Given the description of an element on the screen output the (x, y) to click on. 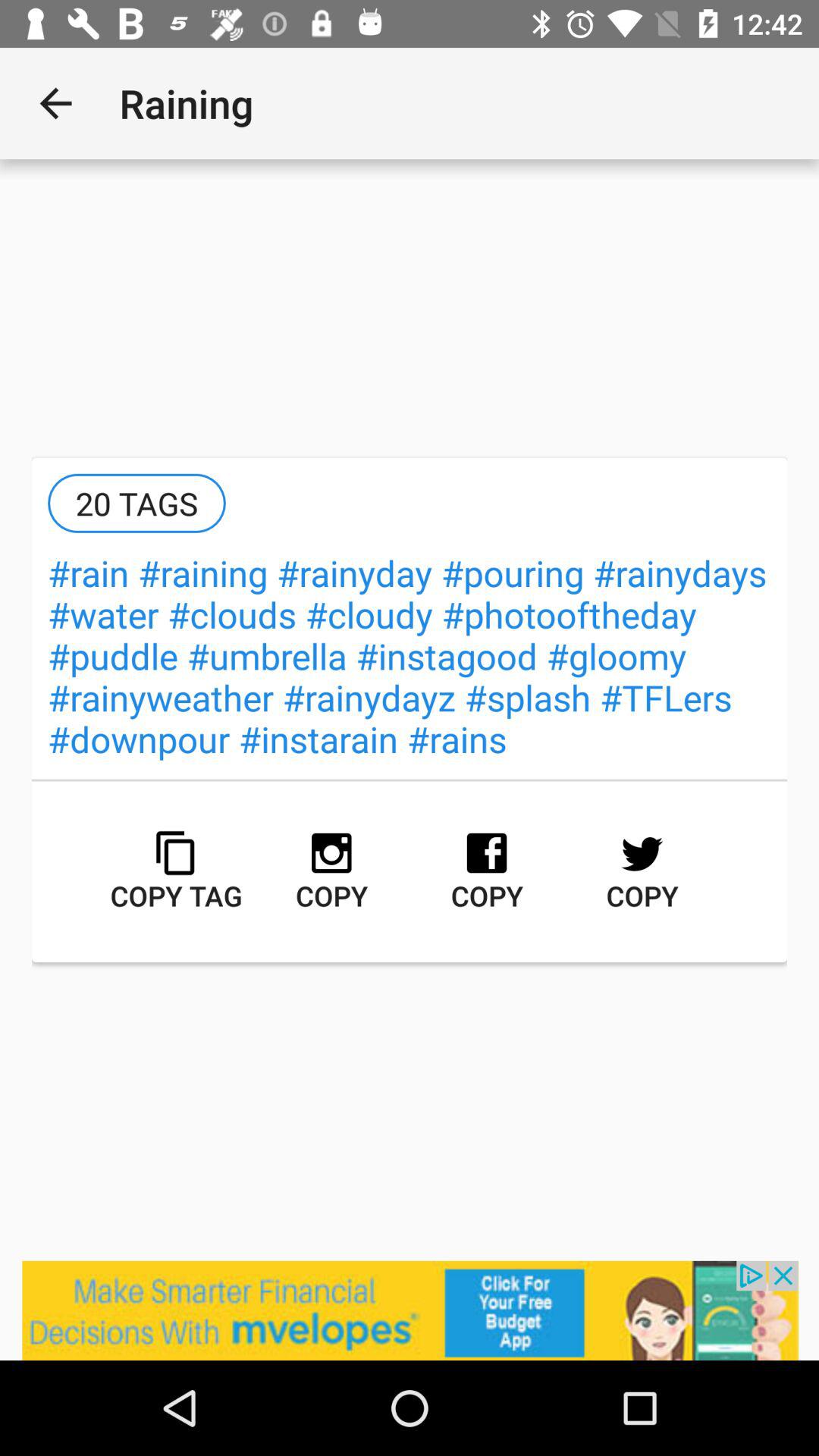
hashtags for instagram (409, 1310)
